Given the description of an element on the screen output the (x, y) to click on. 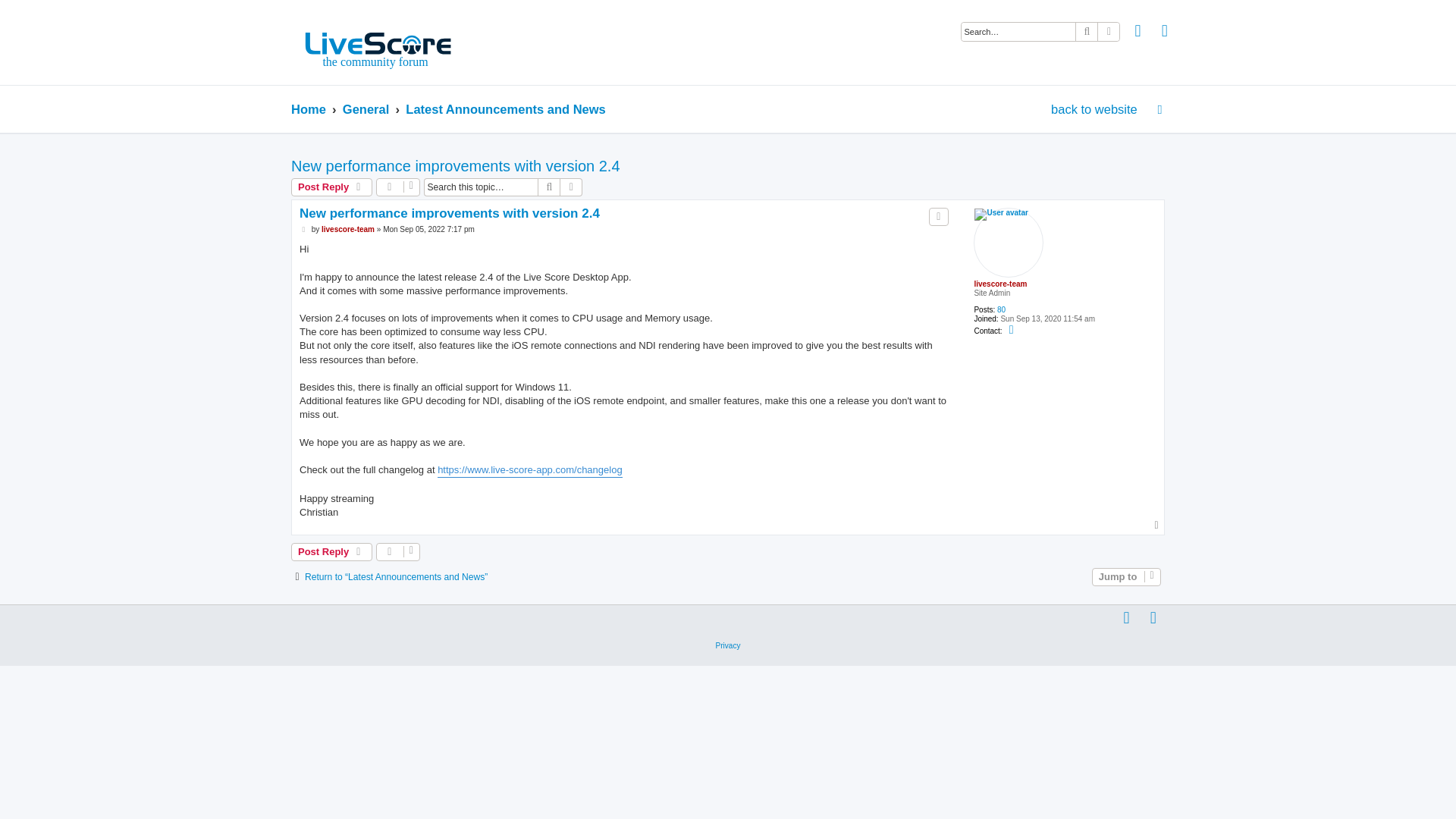
Latest Announcements and News (505, 108)
Home (308, 108)
Quote (938, 217)
Latest Announcements and News (505, 108)
Advanced search (571, 187)
Search (548, 187)
Contact livescore-team (1012, 329)
Search for keywords (1017, 31)
Top (1156, 525)
Login (1137, 32)
